Given the description of an element on the screen output the (x, y) to click on. 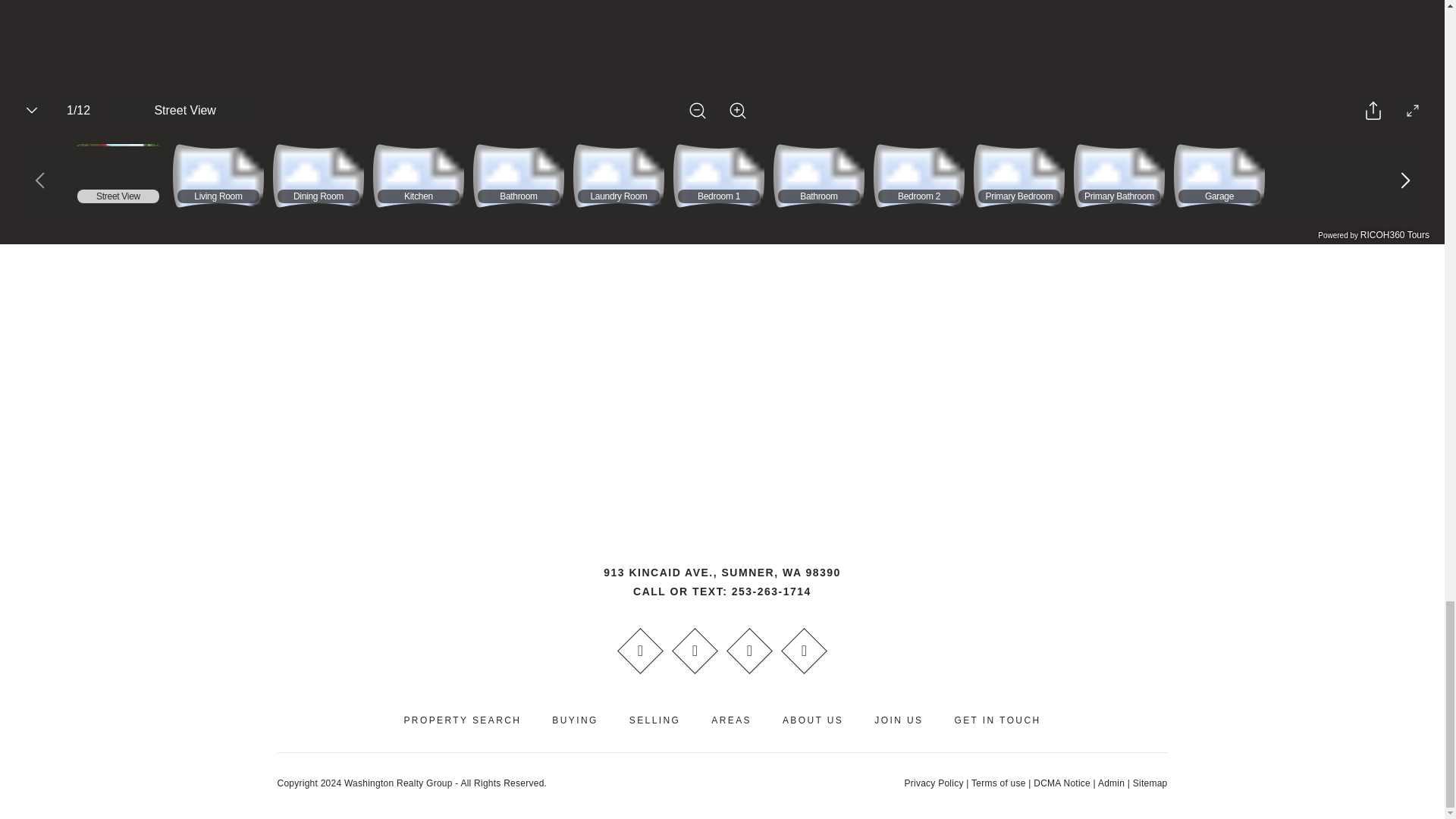
Follow Washington Realty Group on Youtube (694, 650)
Follow Washington Realty Group on Facebook (639, 650)
Follow Washington Realty Group on Instagram (803, 650)
Follow Washington Realty Group on Twitter (748, 650)
